Given the description of an element on the screen output the (x, y) to click on. 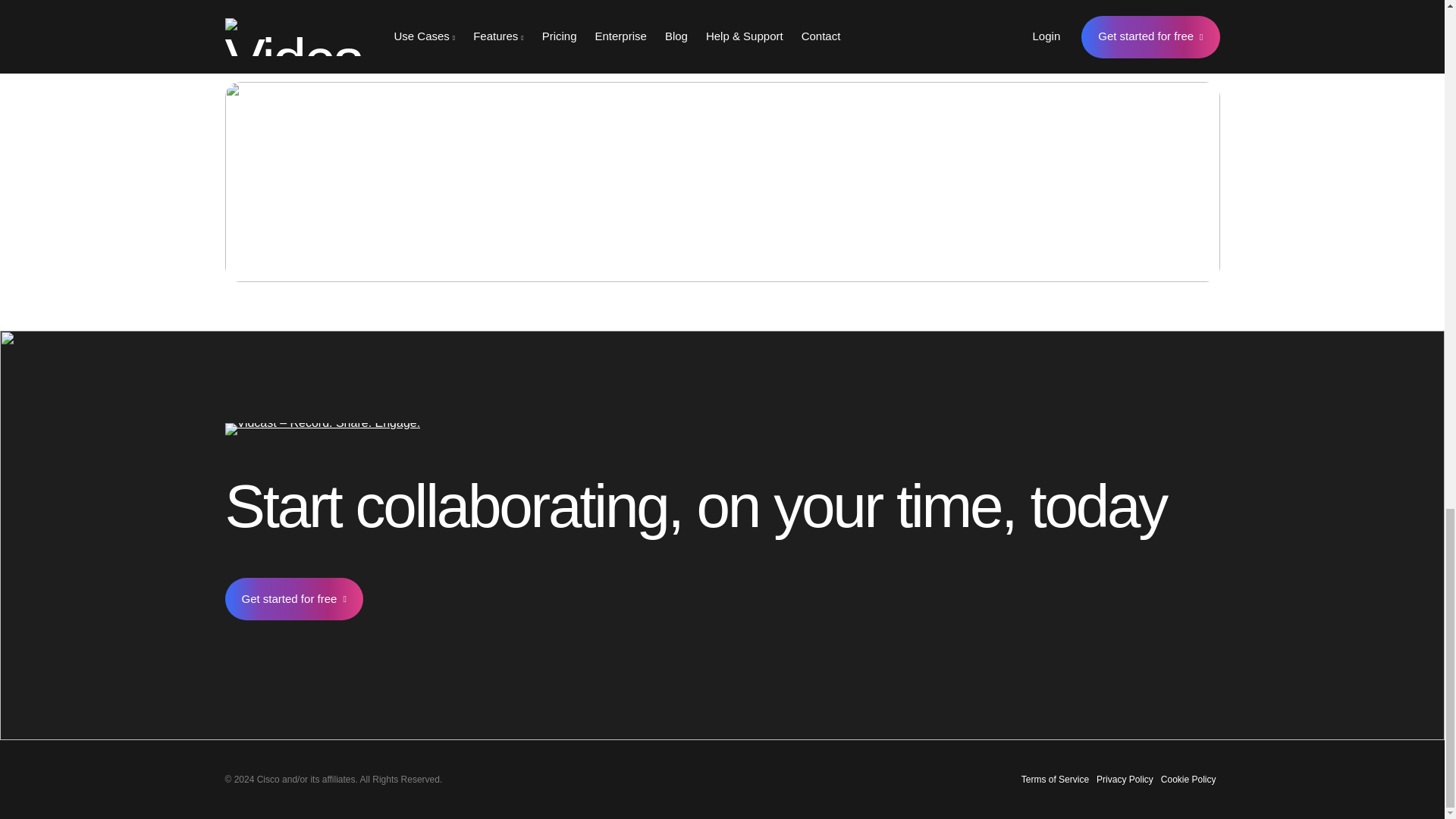
Get started for free (293, 598)
Learn more (1118, 157)
Terms of Service (1055, 779)
